Given the description of an element on the screen output the (x, y) to click on. 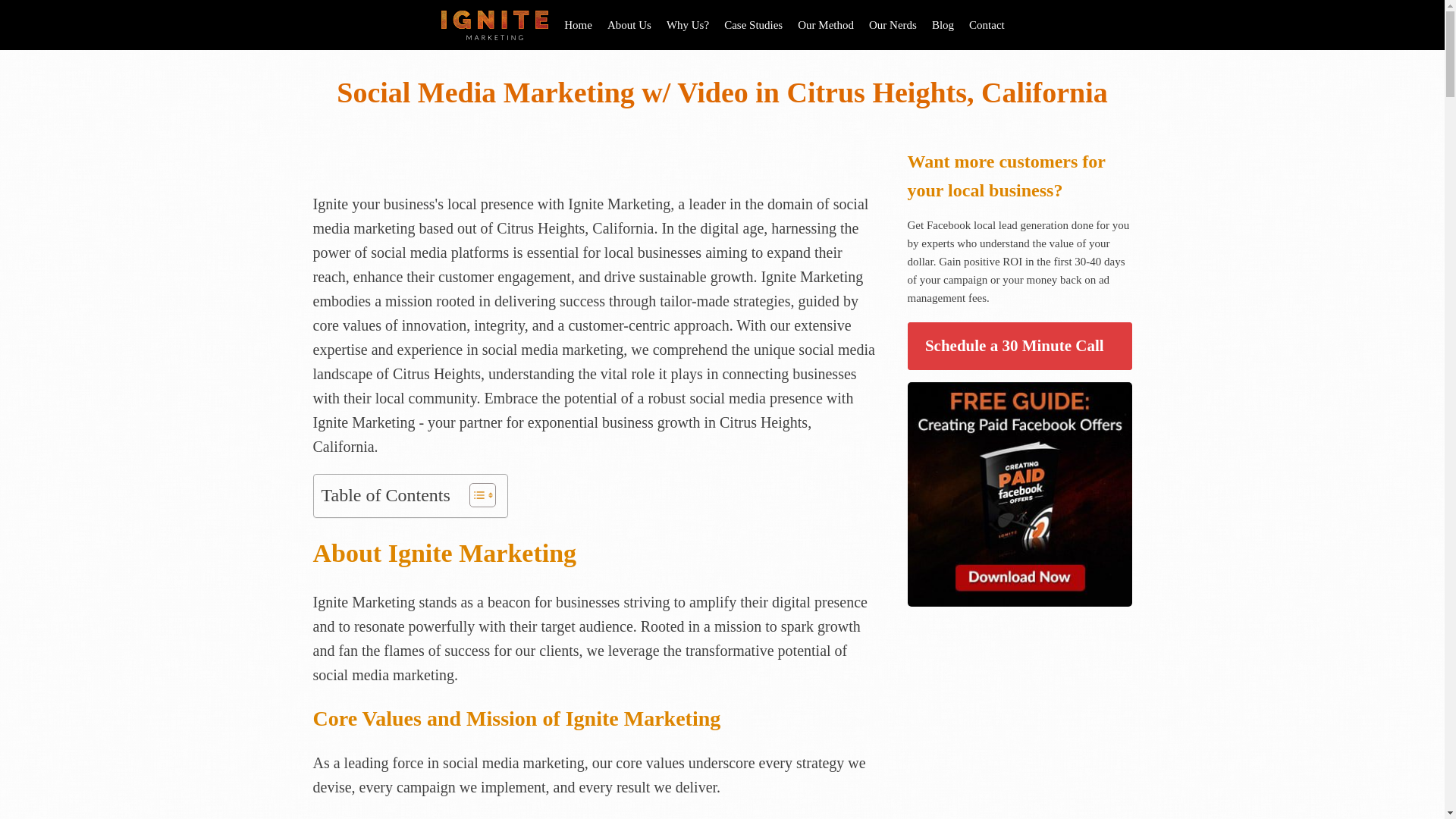
Our Nerds (892, 24)
Our Method (825, 24)
Home (577, 24)
Case Studies (753, 24)
Contact (985, 24)
About Us (629, 24)
Schedule a 30 Minute Call (1019, 346)
Why Us? (687, 24)
